Given the description of an element on the screen output the (x, y) to click on. 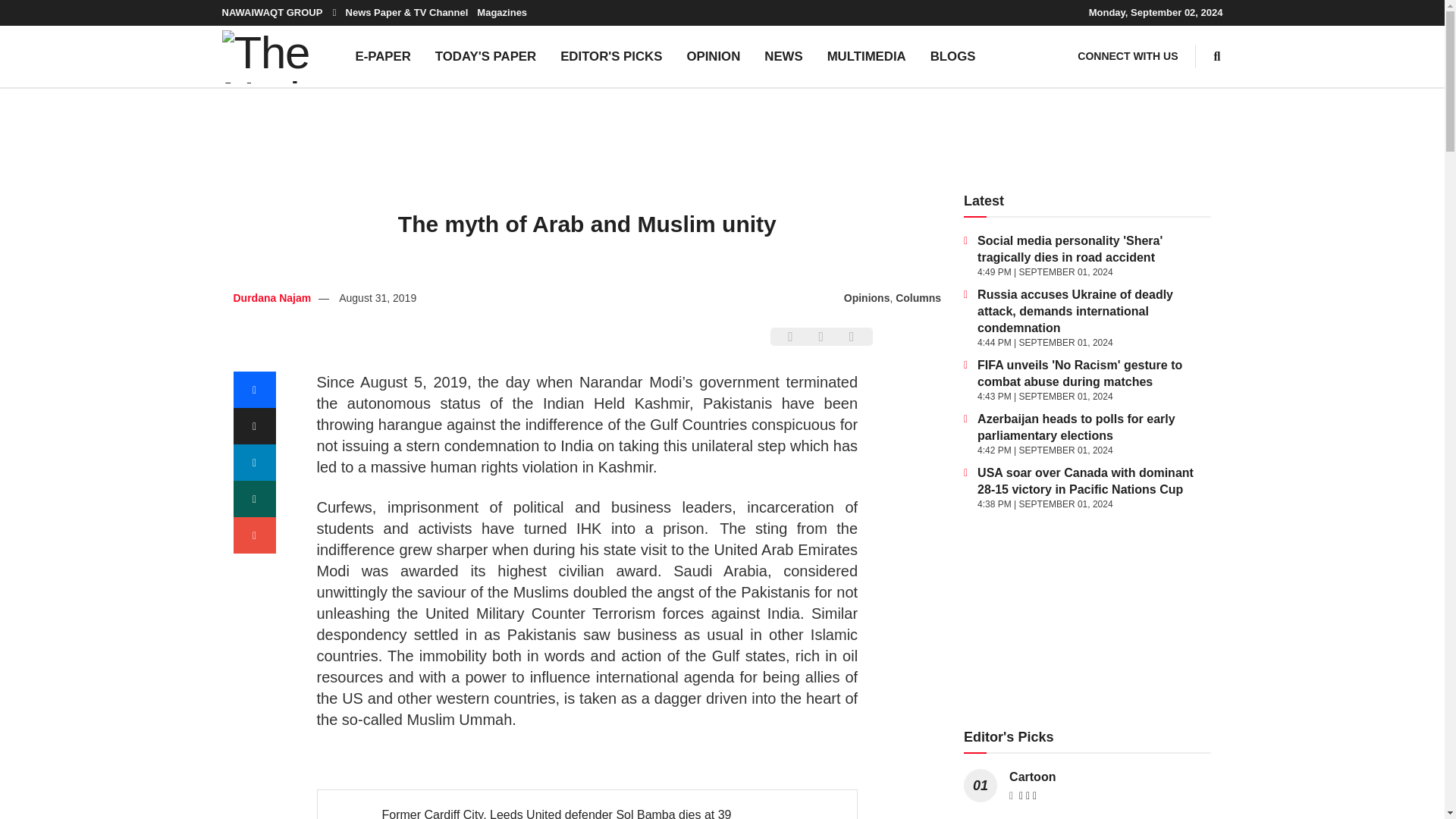
NEWS (782, 55)
Magazines (502, 12)
MULTIMEDIA (866, 55)
EDITOR'S PICKS (611, 55)
BLOGS (953, 55)
TODAY'S PAPER (485, 55)
OPINION (713, 55)
E-PAPER (382, 55)
